Given the description of an element on the screen output the (x, y) to click on. 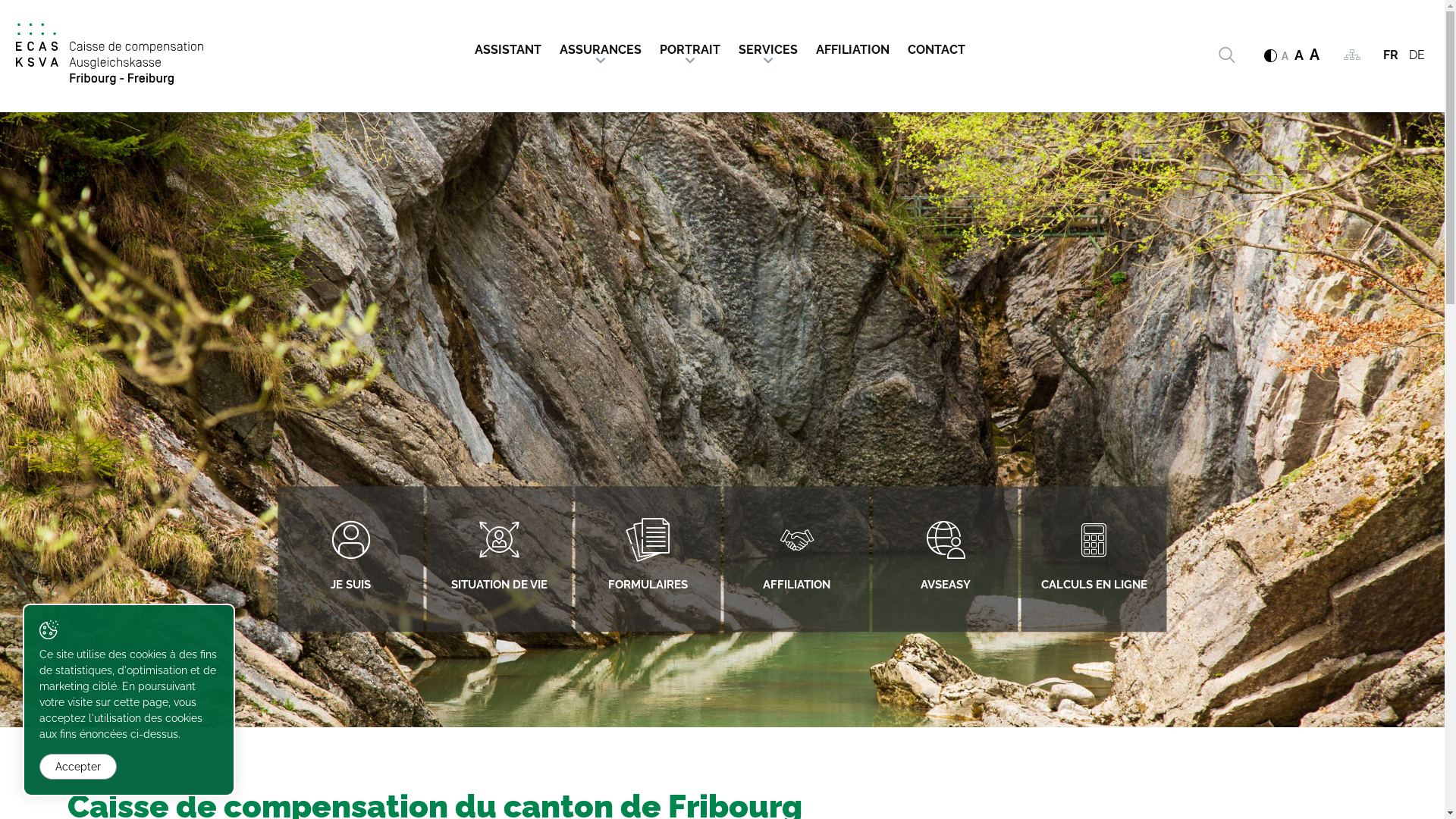
SERVICES Element type: text (768, 45)
SITUATION DE VIE Element type: text (498, 559)
ASSURANCES Element type: text (600, 45)
CALCULS EN LIGNE Element type: text (1093, 559)
ASSISTANT Element type: text (511, 45)
AFFILIATION Element type: text (796, 559)
A Element type: text (1314, 54)
JE SUIS Element type: text (350, 559)
CONTACT Element type: text (935, 45)
A Element type: text (1298, 55)
FR Element type: text (1390, 54)
AFFILIATION Element type: text (852, 45)
FORMULAIRES Element type: text (647, 559)
A Element type: text (1284, 55)
DE Element type: text (1416, 54)
AVSEASY Element type: text (944, 559)
Caisse de compensation du canton de Fribourg Element type: hover (109, 53)
Accepter Element type: text (77, 766)
PORTRAIT Element type: text (690, 45)
Rechercher Element type: text (1225, 55)
